Given the description of an element on the screen output the (x, y) to click on. 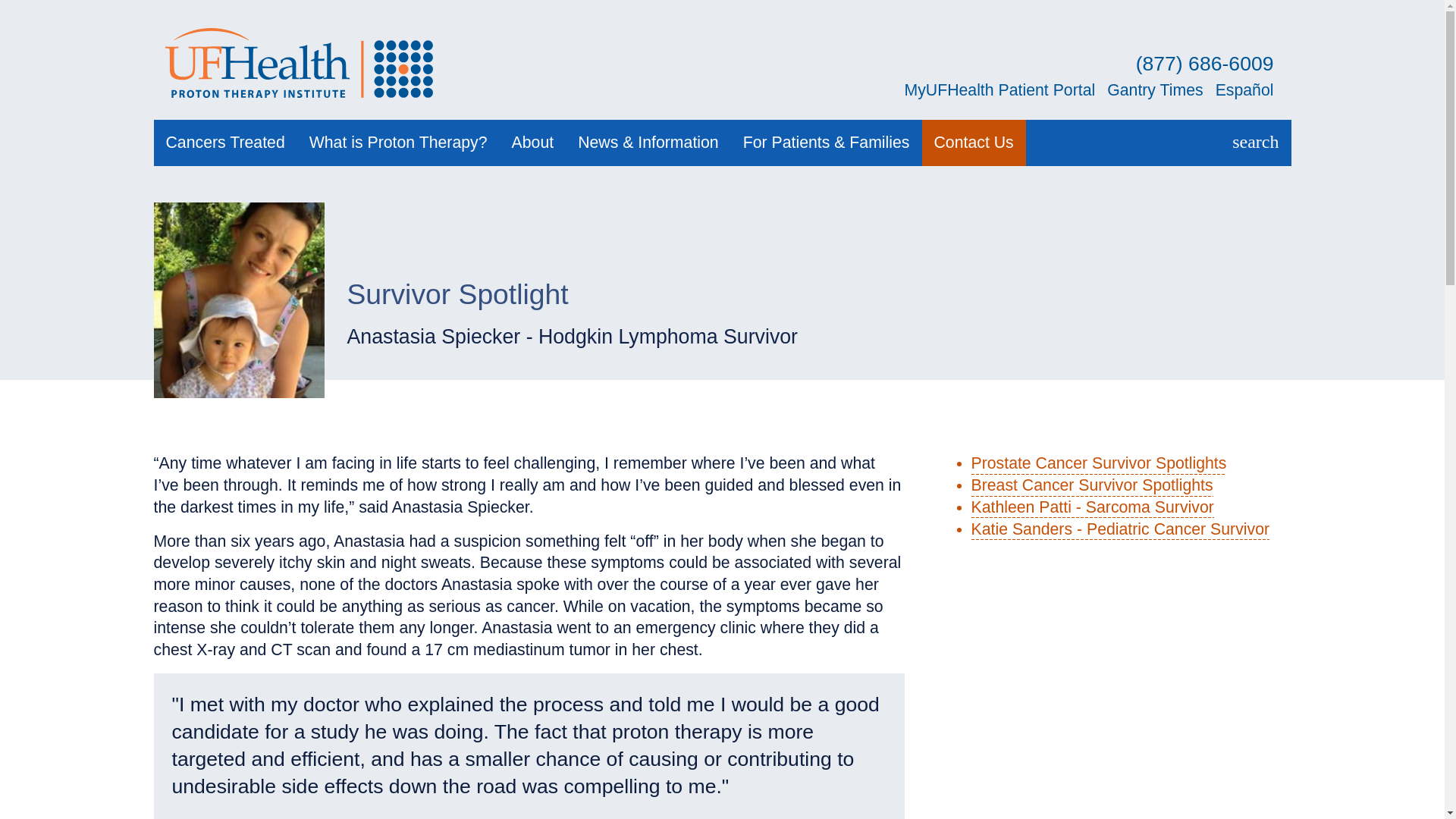
Cancers Treated (224, 142)
Gantry Times (1154, 90)
MyUFHealth Patient Portal (999, 90)
Home (302, 62)
What is Proton Therapy? (398, 142)
About (532, 142)
Skip to main content (721, 1)
